Given the description of an element on the screen output the (x, y) to click on. 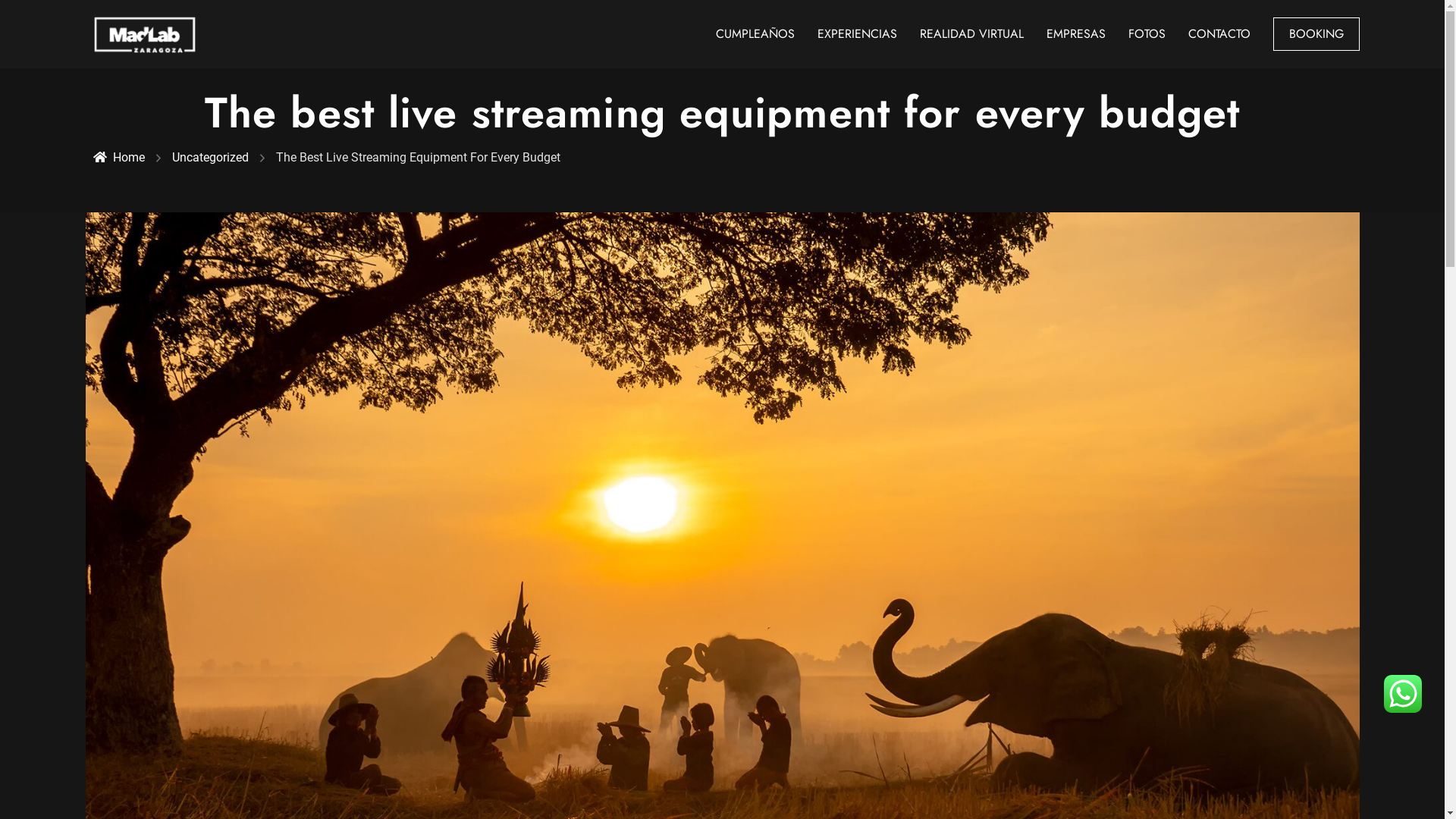
BOOKING Element type: text (1315, 33)
FOTOS Element type: text (1146, 33)
CONTACTO Element type: text (1218, 33)
REALIDAD VIRTUAL Element type: text (970, 33)
Home Element type: text (118, 157)
EXPERIENCIAS Element type: text (857, 33)
EMPRESAS Element type: text (1075, 33)
Uncategorized Element type: text (209, 157)
